Given the description of an element on the screen output the (x, y) to click on. 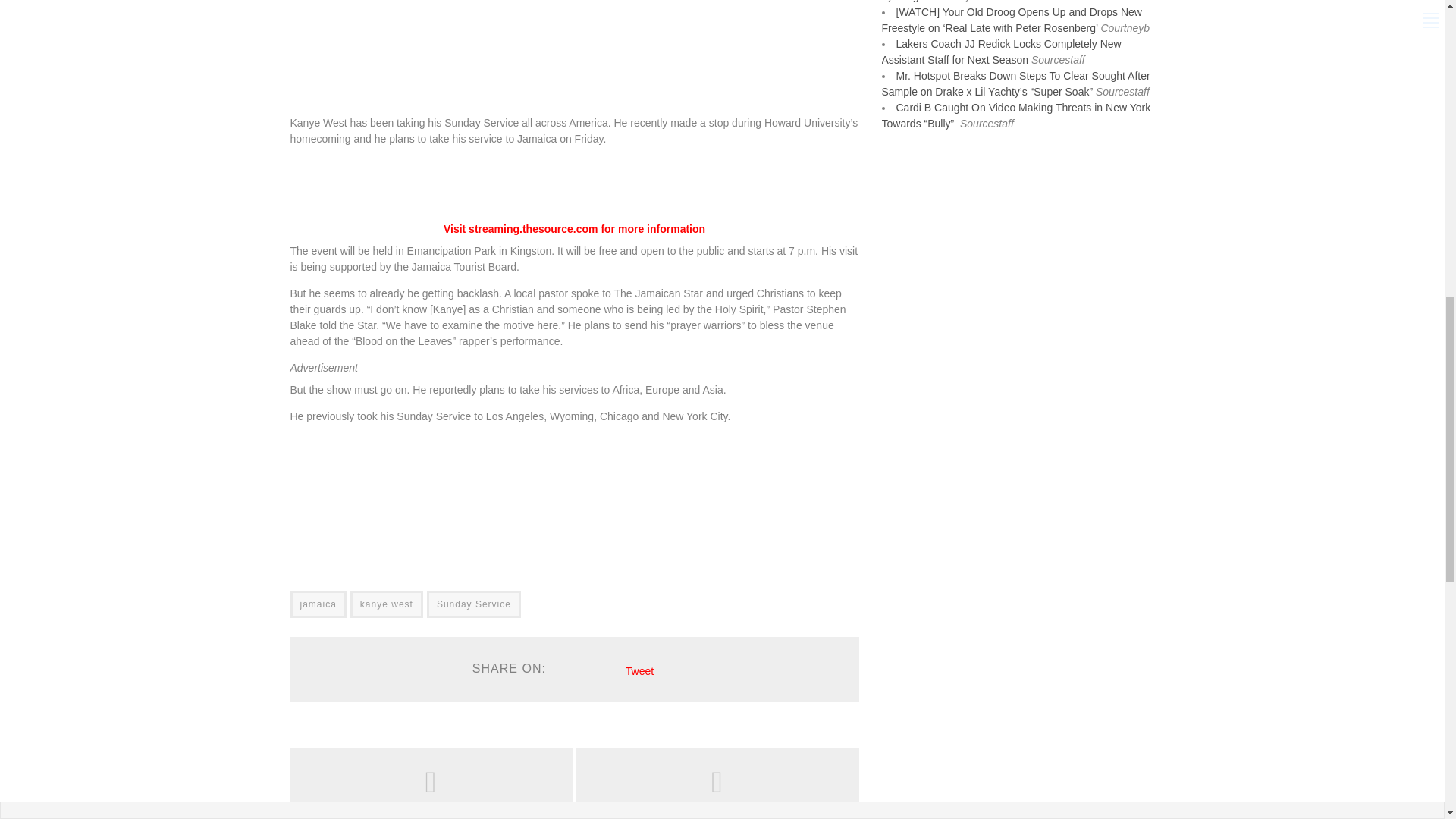
kanye west (386, 604)
jamaica (317, 604)
Sunday Service (473, 604)
Visit streaming.thesource.com for more information (574, 228)
Michael Jordan Emotionally Unveils Charlotte Clinic (430, 810)
Tweet (639, 671)
